Given the description of an element on the screen output the (x, y) to click on. 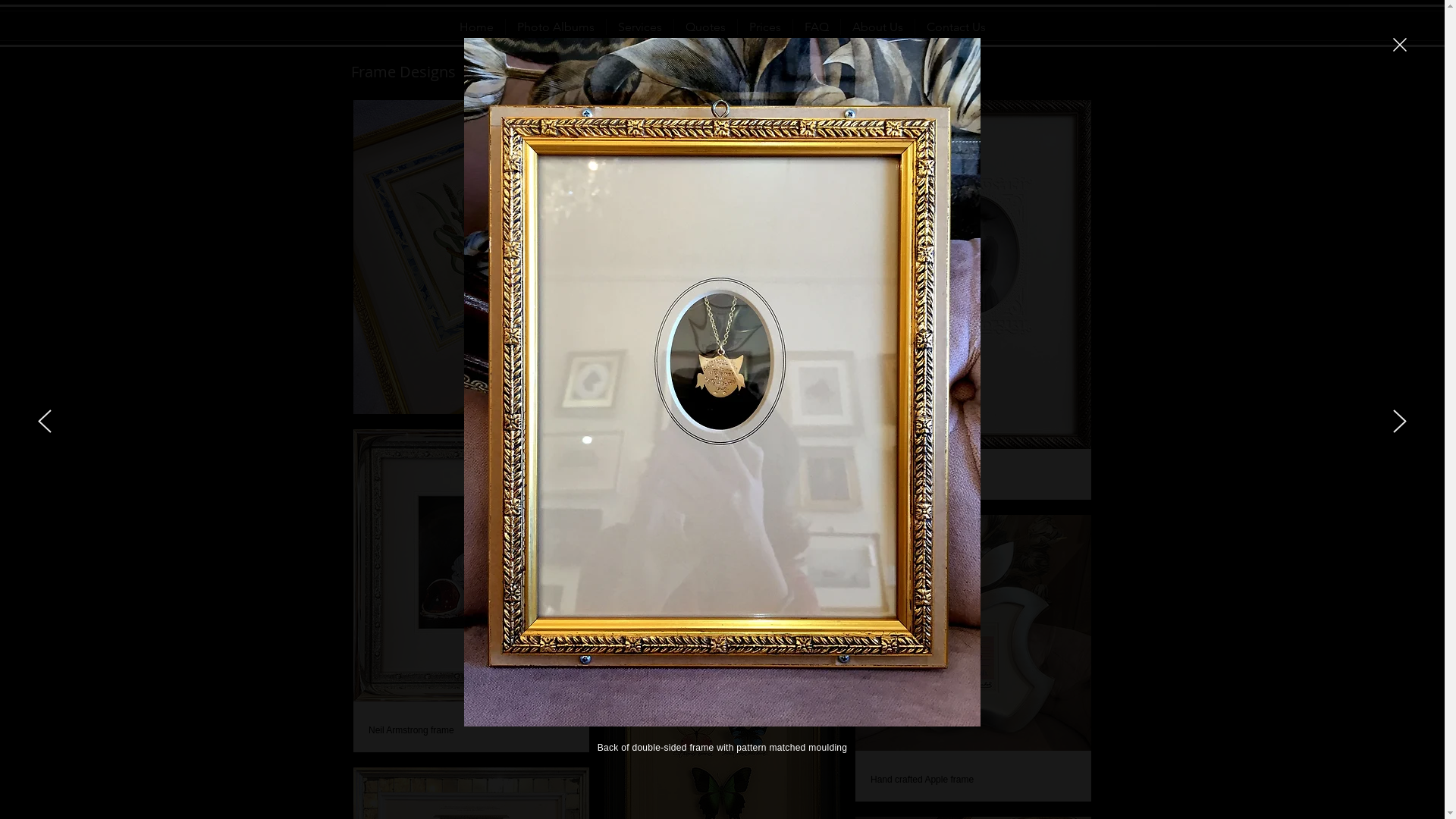
Prices Element type: text (764, 26)
Home Element type: text (475, 26)
Contact Us Element type: text (955, 26)
Quotes Element type: text (704, 26)
